Given the description of an element on the screen output the (x, y) to click on. 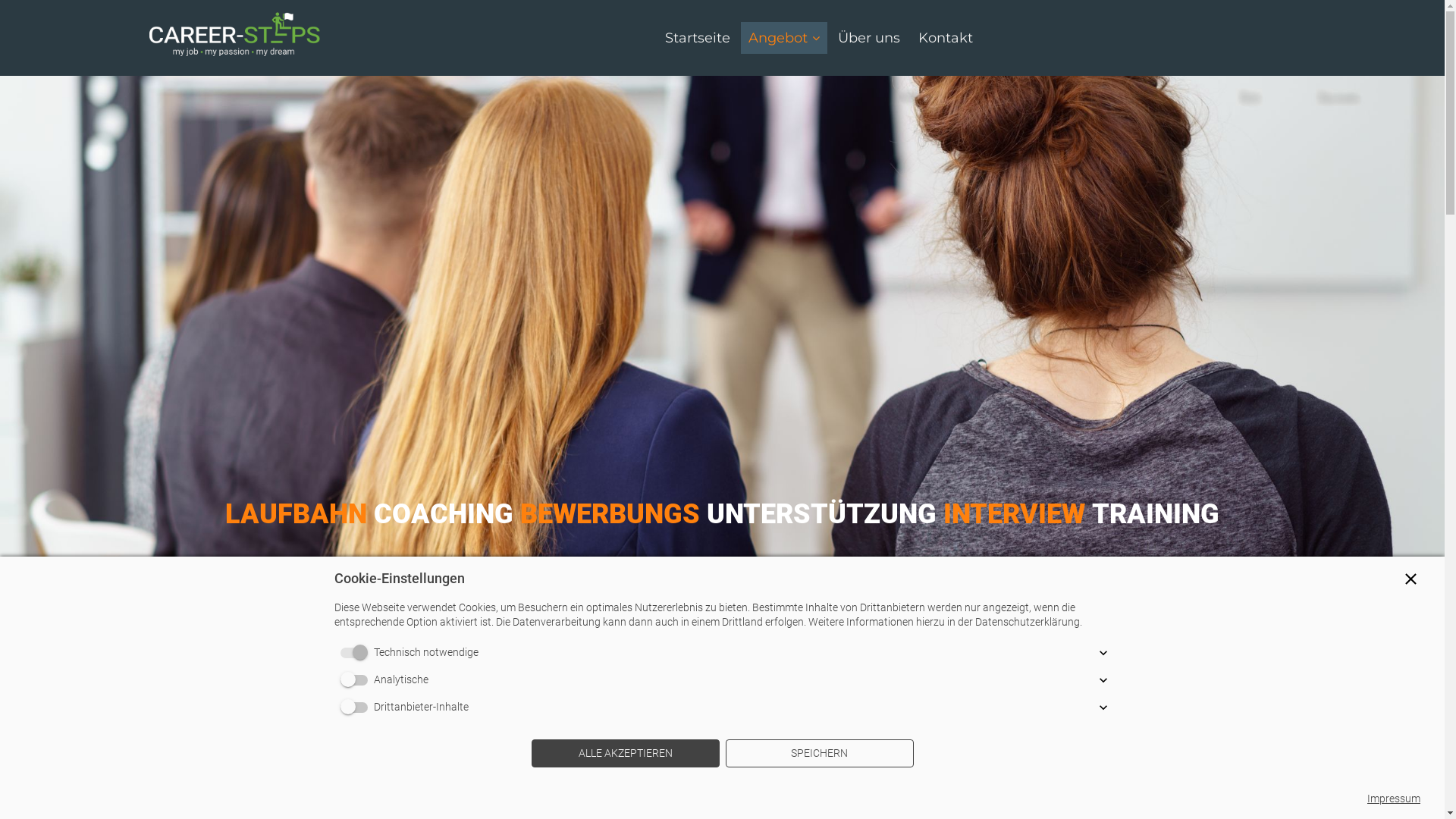
Startseite Element type: text (696, 37)
SPEICHERN Element type: text (818, 753)
Impressum Element type: text (1393, 798)
  Element type: text (234, 36)
Kontakt Element type: text (944, 37)
ALLE AKZEPTIEREN Element type: text (624, 753)
Angebot Element type: text (783, 37)
